Given the description of an element on the screen output the (x, y) to click on. 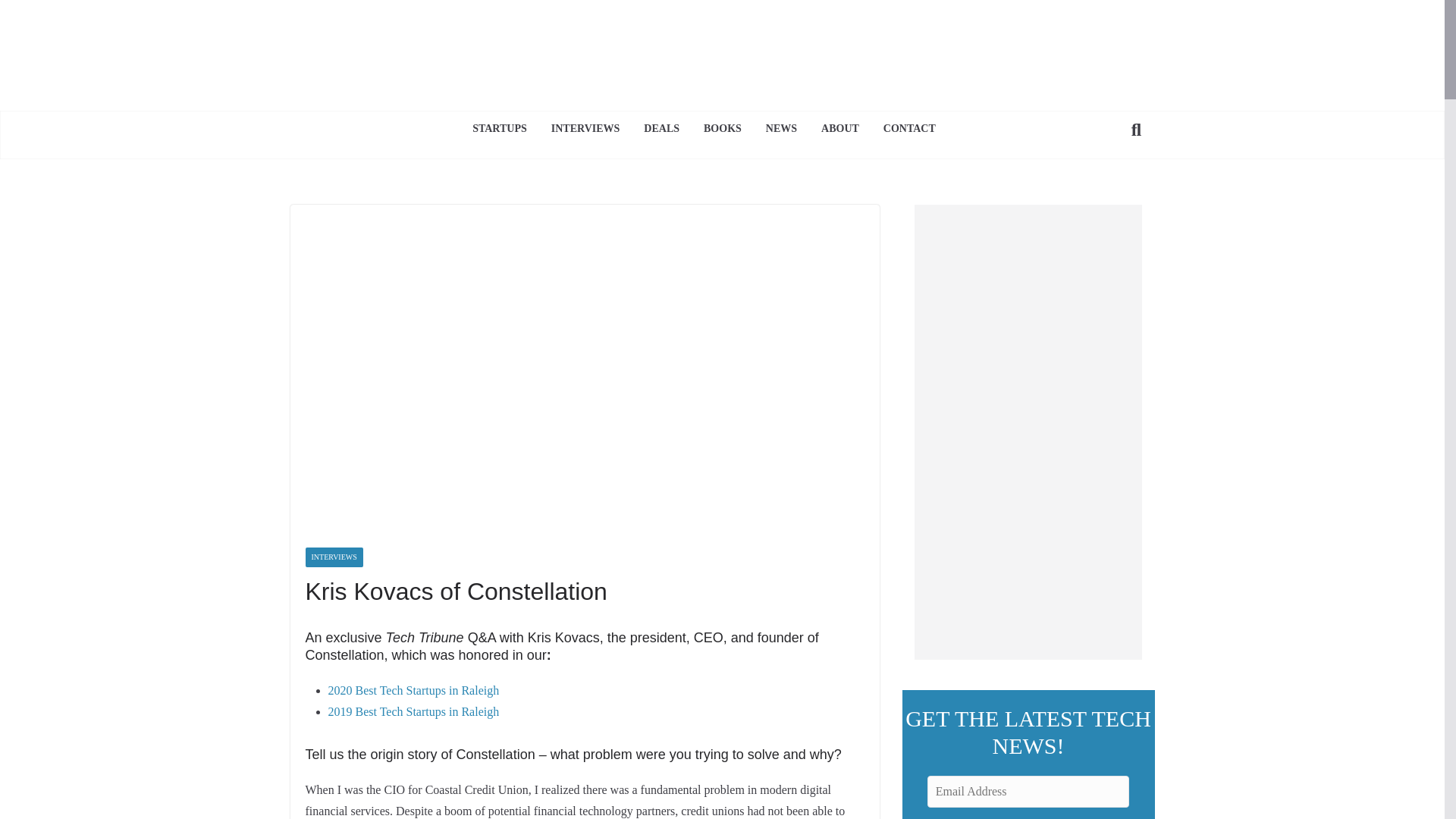
ABOUT (840, 128)
2020 Best Tech Startups in Raleigh (413, 689)
CONTACT (909, 128)
INTERVIEWS (585, 128)
INTERVIEWS (333, 557)
NEWS (780, 128)
DEALS (661, 128)
STARTUPS (499, 128)
2019 Best Tech Startups in Raleigh (413, 711)
BOOKS (722, 128)
